Given the description of an element on the screen output the (x, y) to click on. 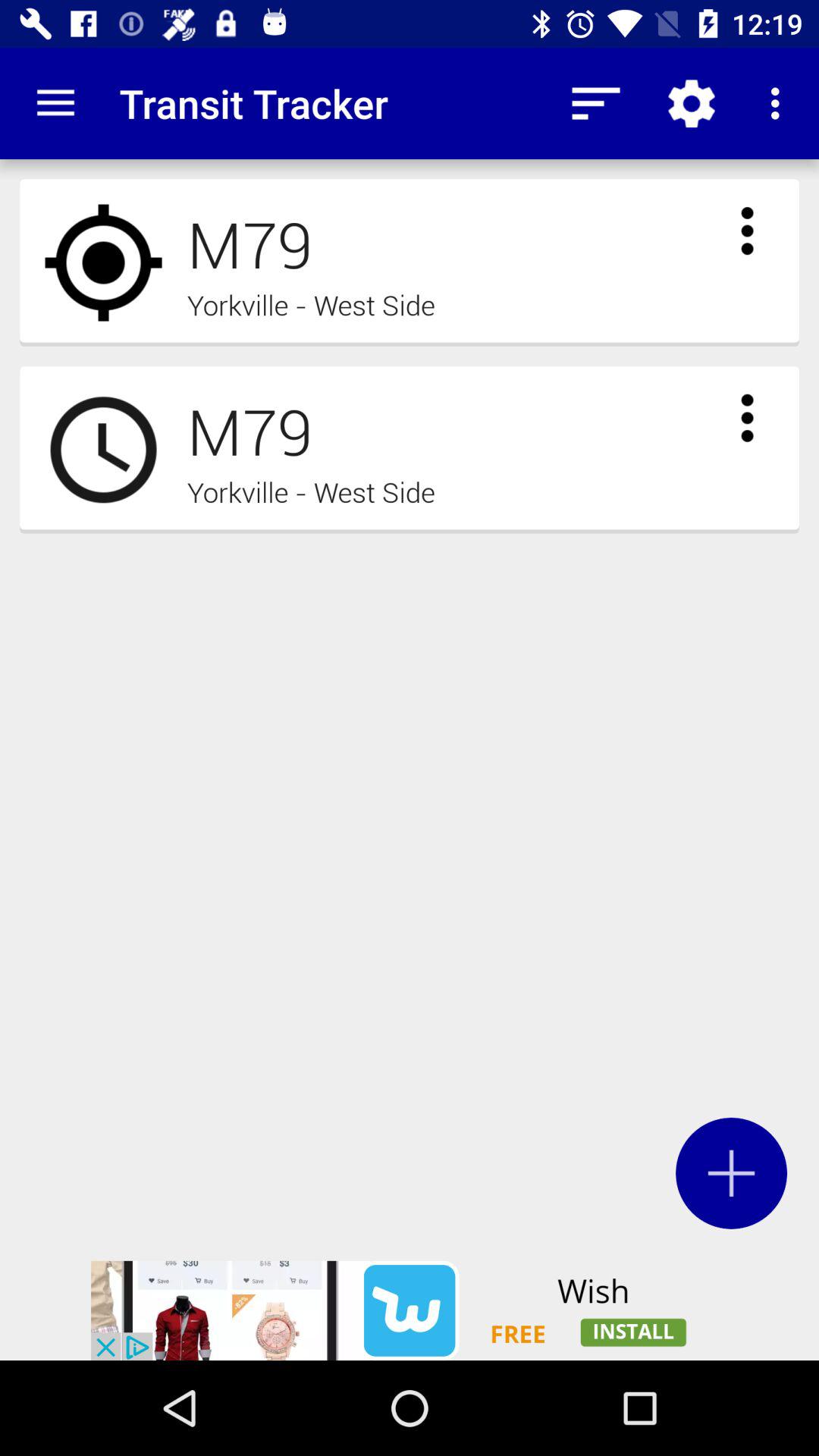
receive more information for m79 (747, 230)
